Given the description of an element on the screen output the (x, y) to click on. 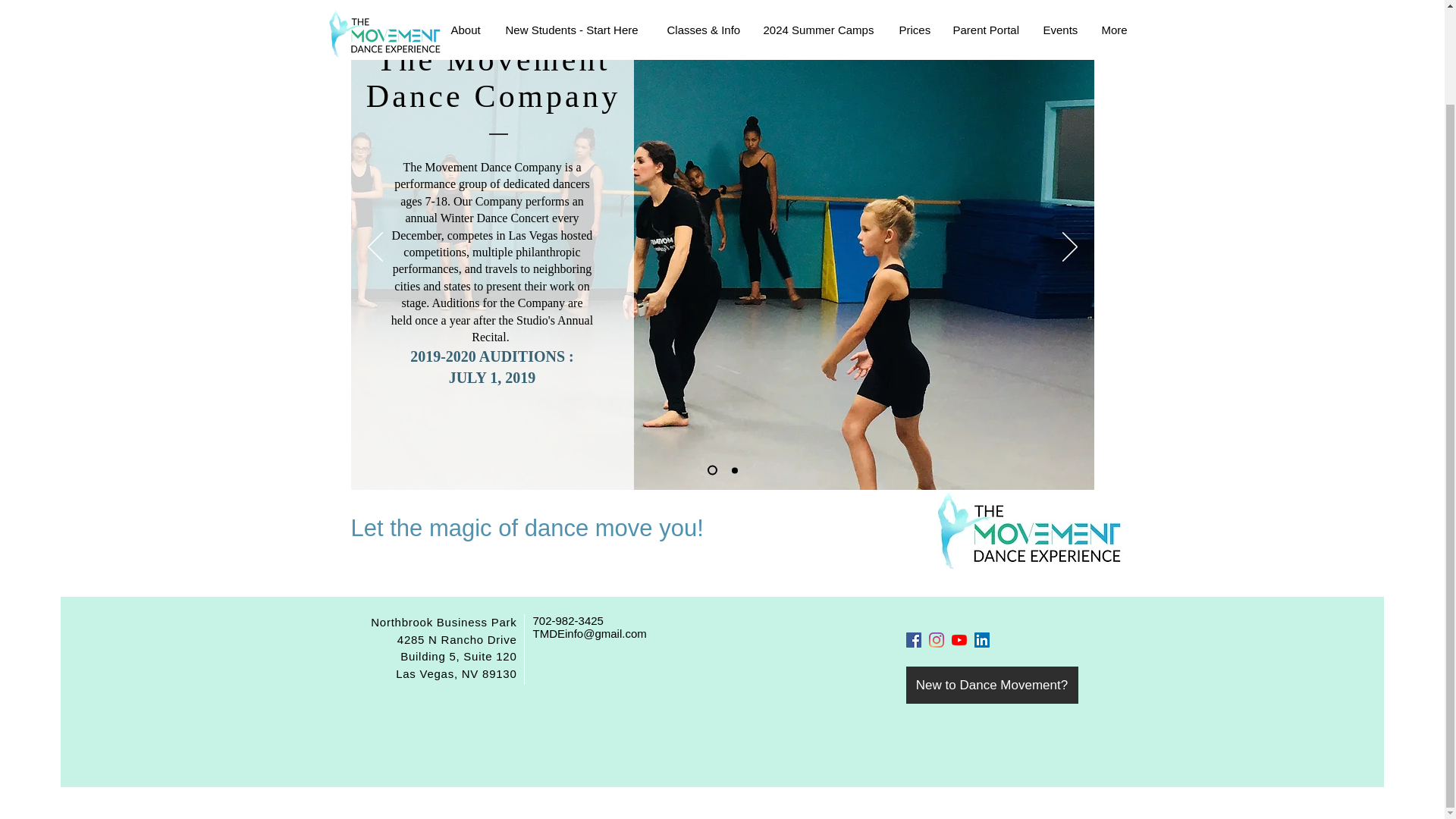
New to Dance Movement? (991, 684)
